Given the description of an element on the screen output the (x, y) to click on. 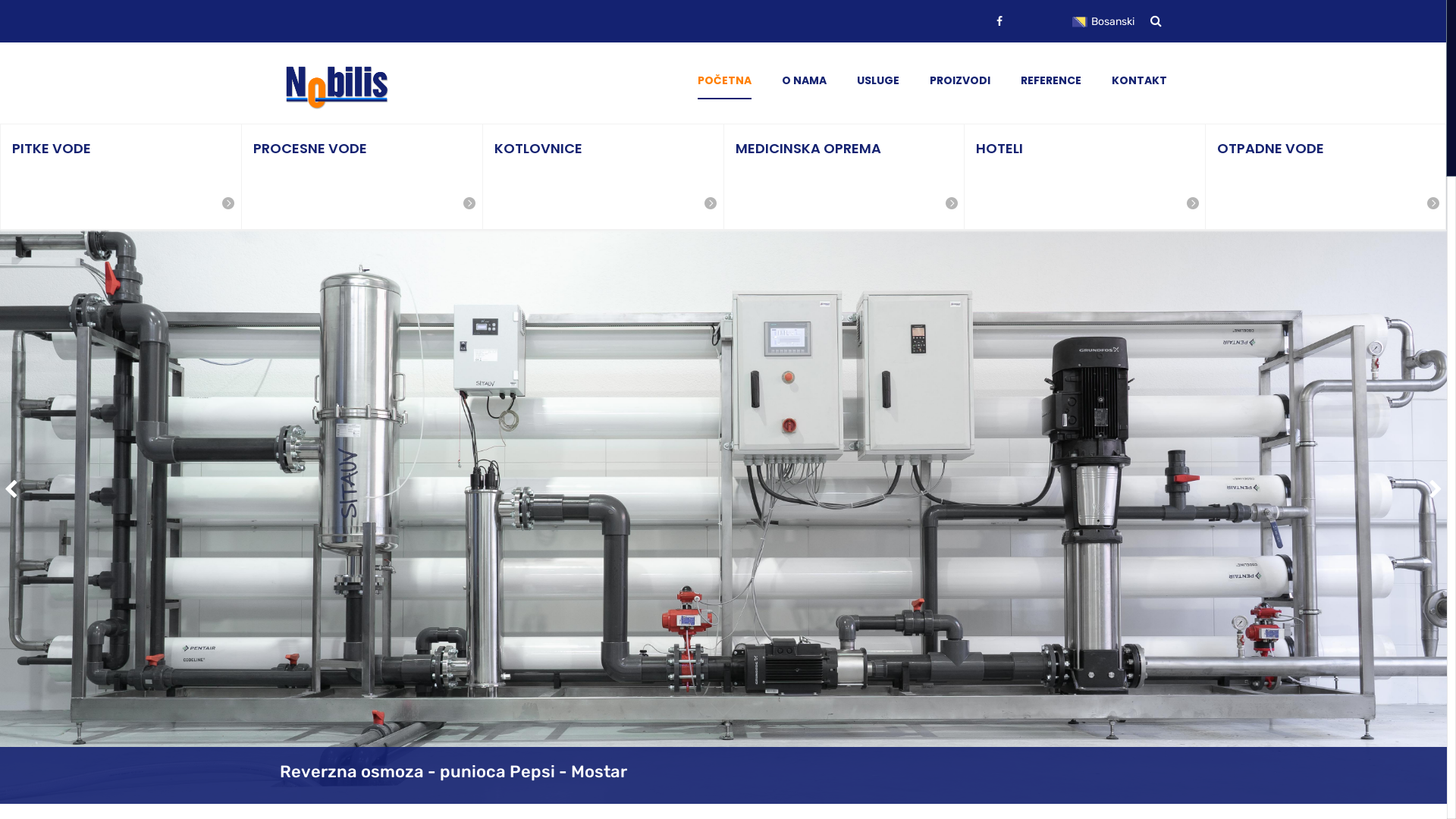
Bosanski Element type: text (1109, 21)
KONTAKT Element type: text (1139, 80)
USLUGE Element type: text (877, 80)
O NAMA Element type: text (803, 80)
PROIZVODI Element type: text (959, 80)
REFERENCE Element type: text (1050, 80)
